Given the description of an element on the screen output the (x, y) to click on. 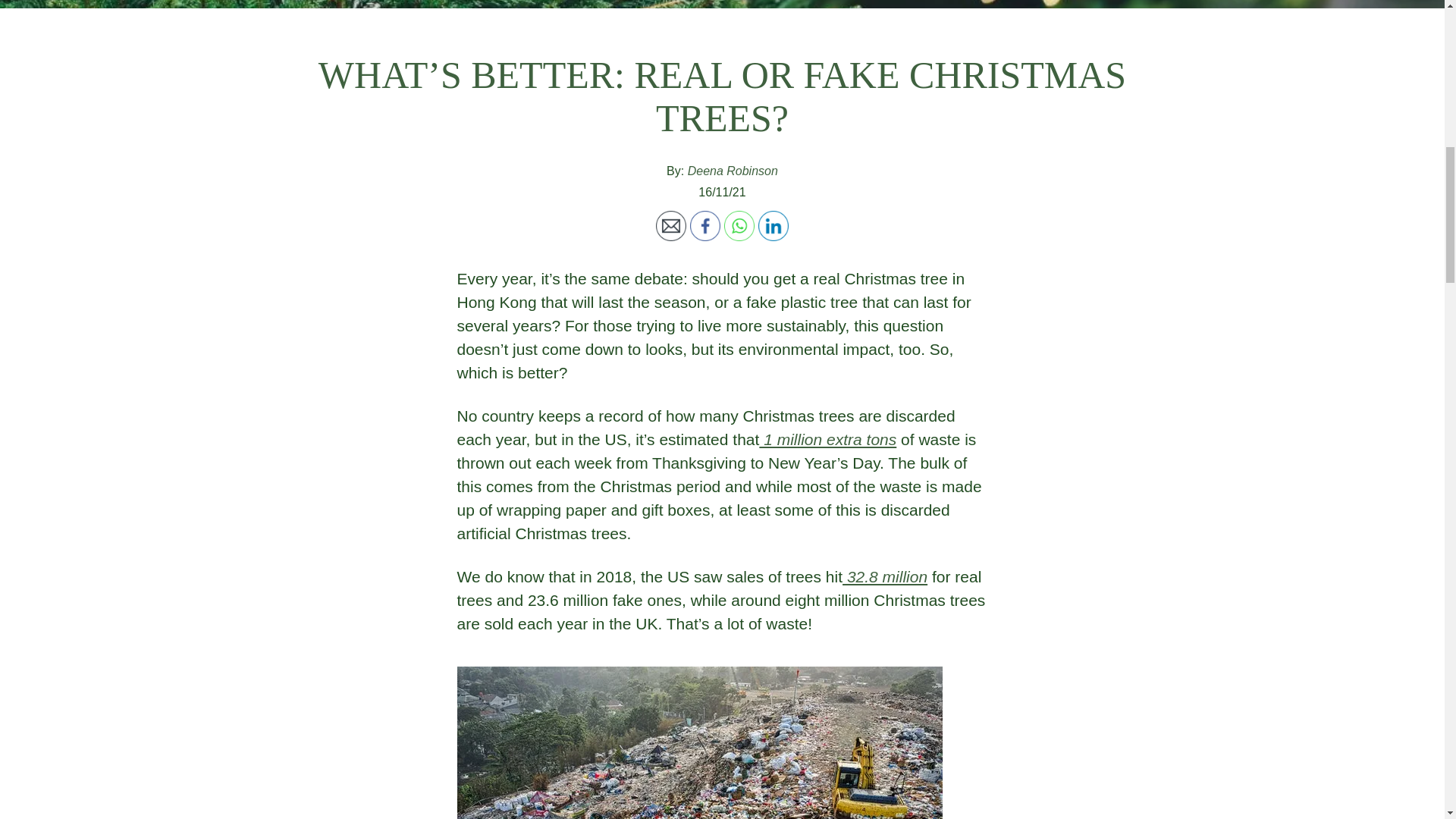
Follow by Email (670, 225)
LinkedIn (773, 225)
Facebook (705, 225)
Deena Robinson (732, 170)
Whatsapp (738, 225)
